Given the description of an element on the screen output the (x, y) to click on. 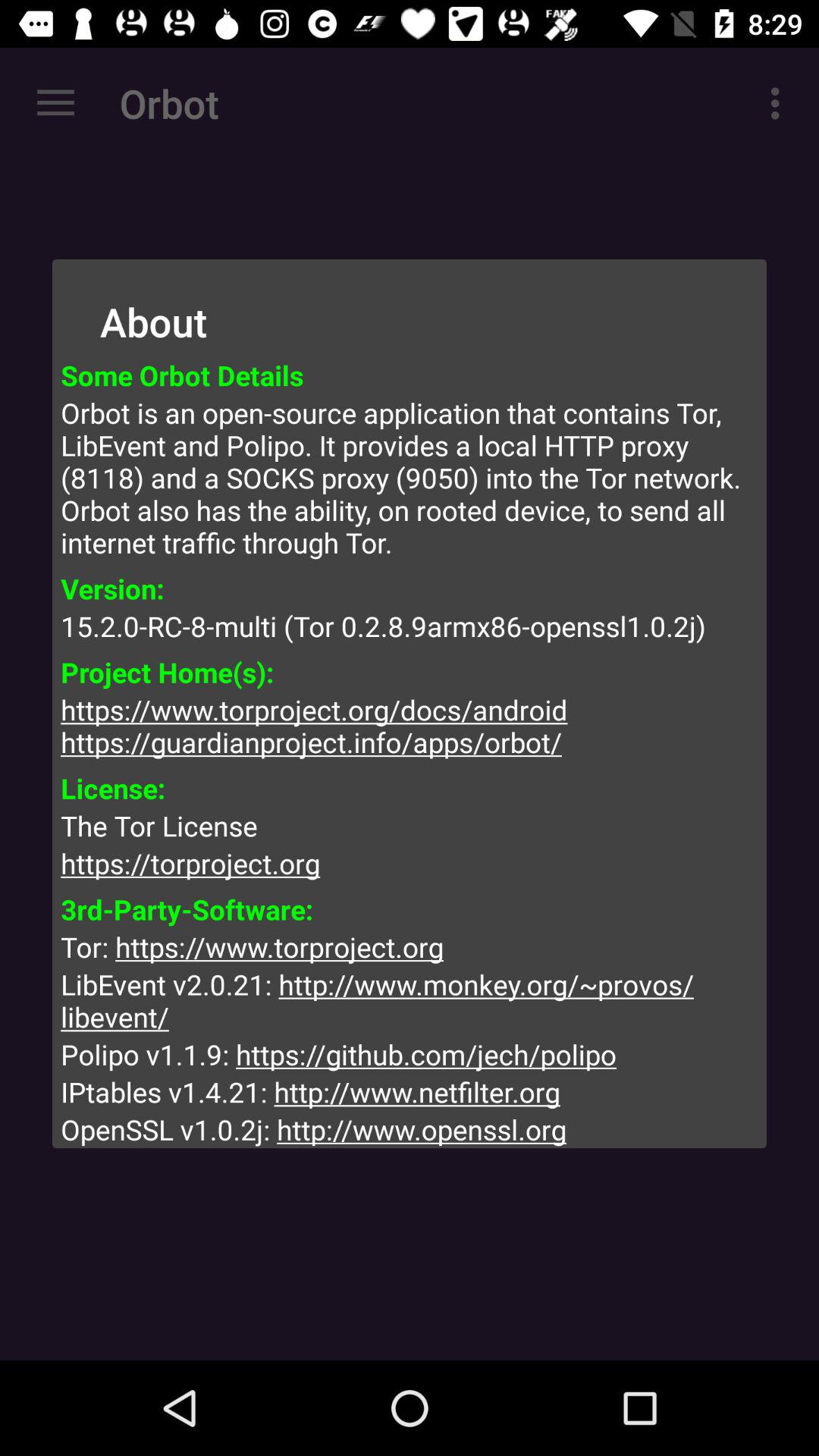
turn off the icon above the openssl v1 0 item (409, 1091)
